Given the description of an element on the screen output the (x, y) to click on. 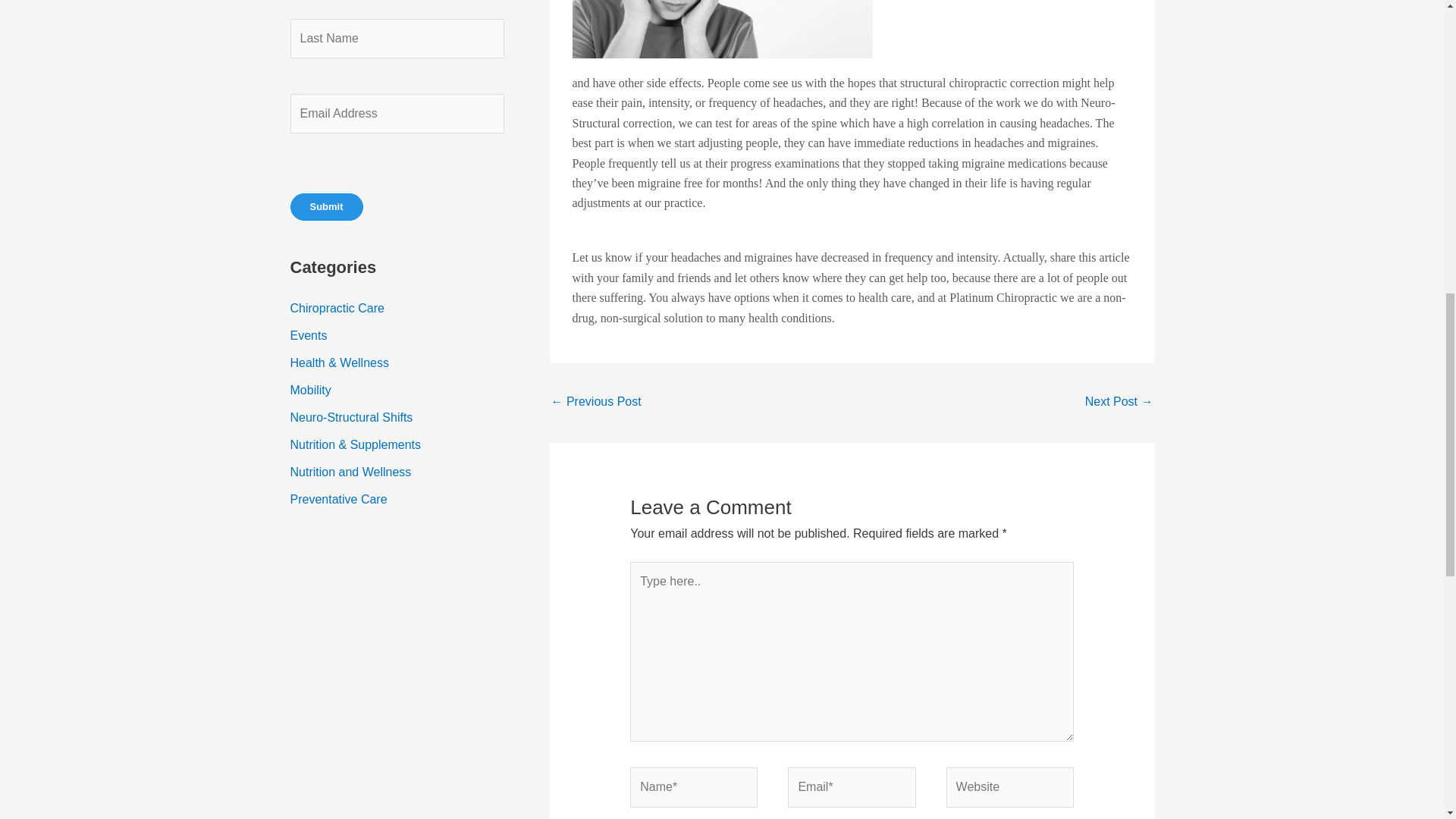
Events (307, 335)
Neuro-Structural Shifts (350, 417)
Chiropractic Care (336, 308)
Submit (325, 206)
Nutrition: What to eat and why (1118, 402)
Mobility (309, 390)
Submit (325, 206)
Sciatica and Low Back Pain (595, 402)
